Given the description of an element on the screen output the (x, y) to click on. 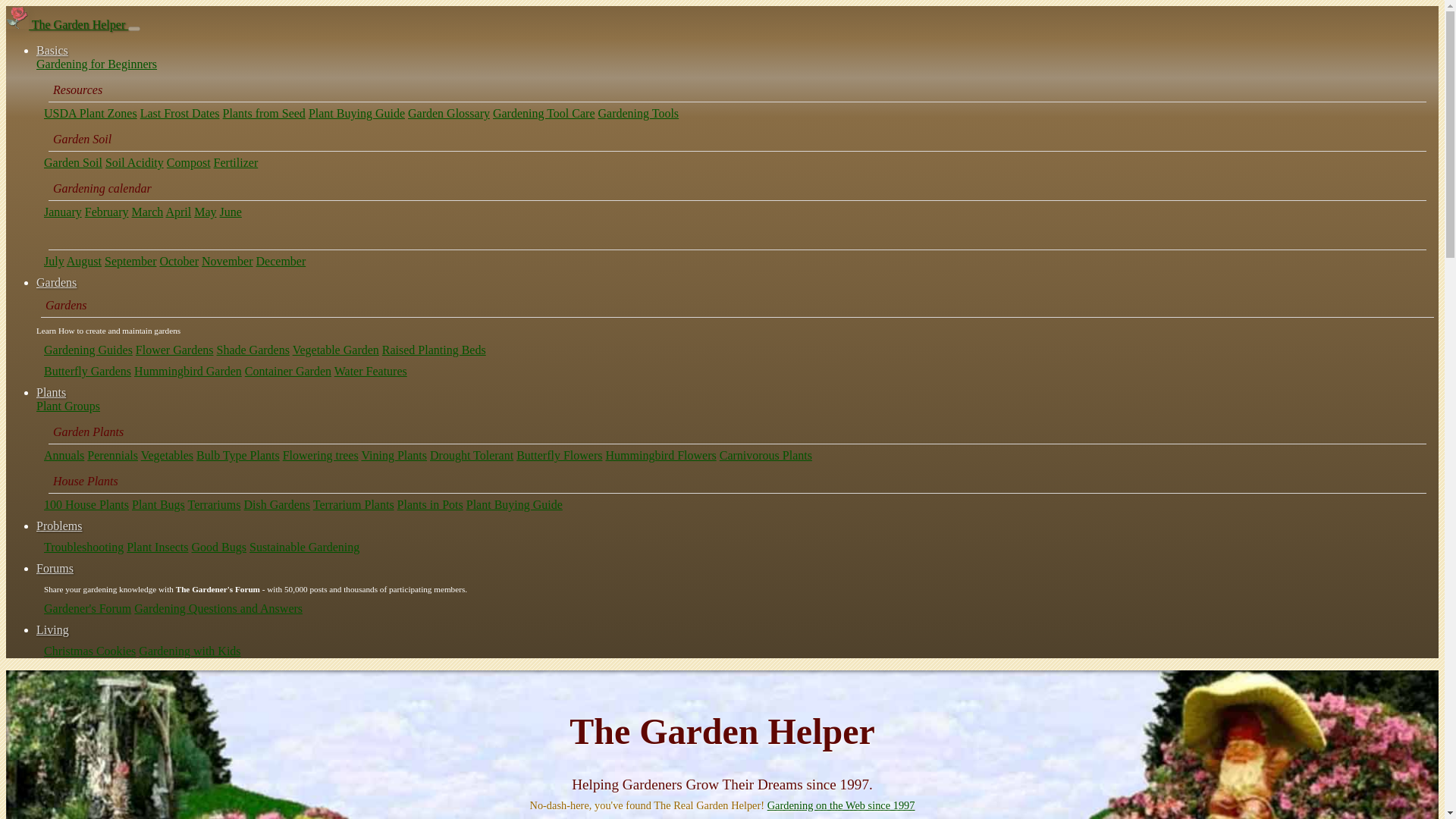
Gardening calendar for June (230, 211)
February (106, 211)
Garden Soil (72, 162)
Garden Glossary (448, 113)
Conditioning and preparing your Garden Soil (72, 162)
USDA Plant Zones (89, 113)
Selecting a healthy plant from the garden shop (356, 113)
May (204, 211)
July (53, 260)
Gardening calendar for February (106, 211)
Gardening for Beginners (96, 63)
November (227, 260)
Gardening Tools (637, 113)
Shade Gardens (252, 349)
Container Garden (287, 370)
